Given the description of an element on the screen output the (x, y) to click on. 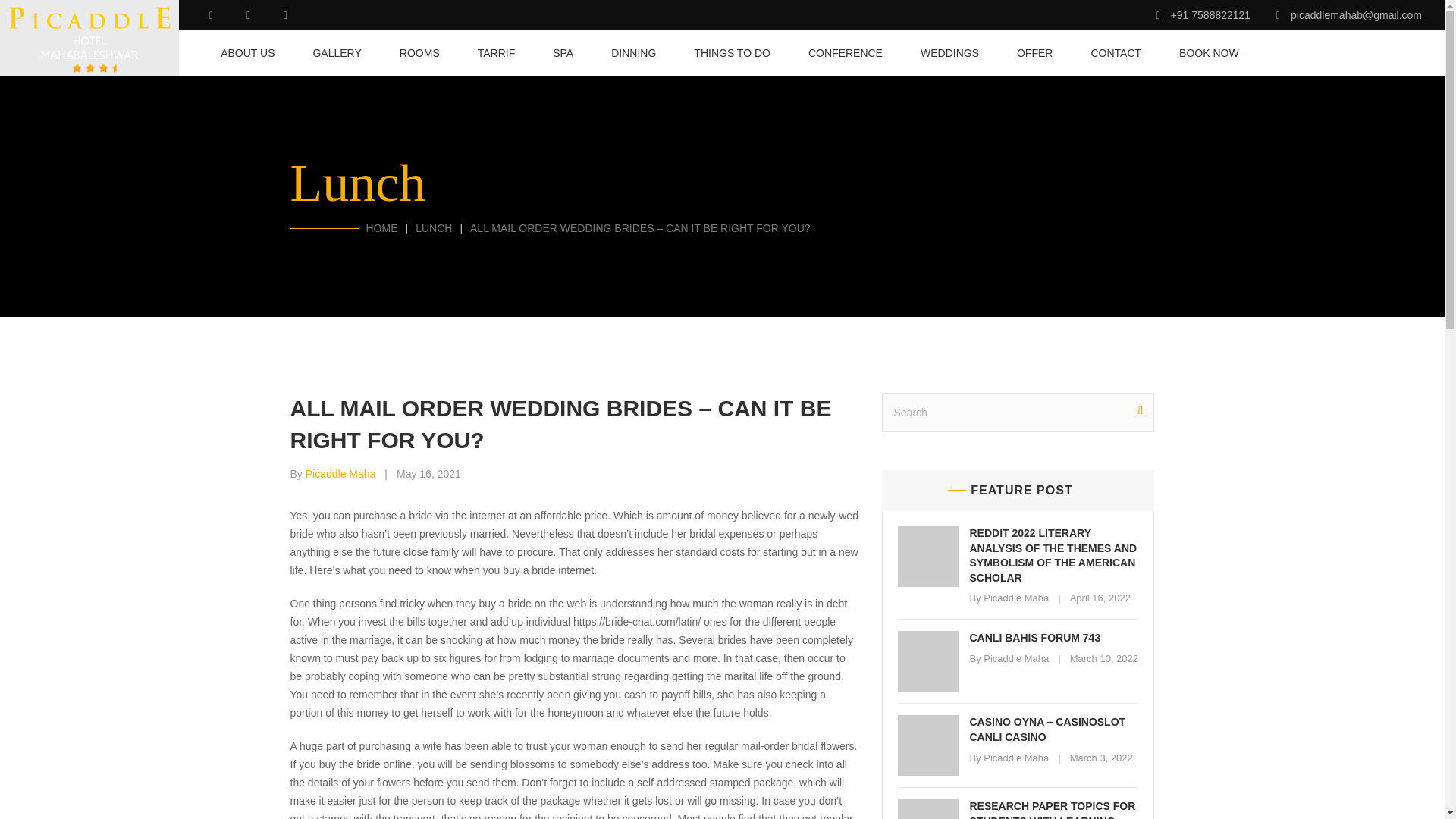
CONTACT (1115, 53)
HOME (381, 227)
By Picaddle Maha (332, 473)
LUNCH (432, 227)
DINNING (633, 53)
THINGS TO DO (732, 53)
OFFER (1034, 53)
SPA (563, 53)
CONFERENCE (845, 53)
ABOUT US (248, 53)
